Given the description of an element on the screen output the (x, y) to click on. 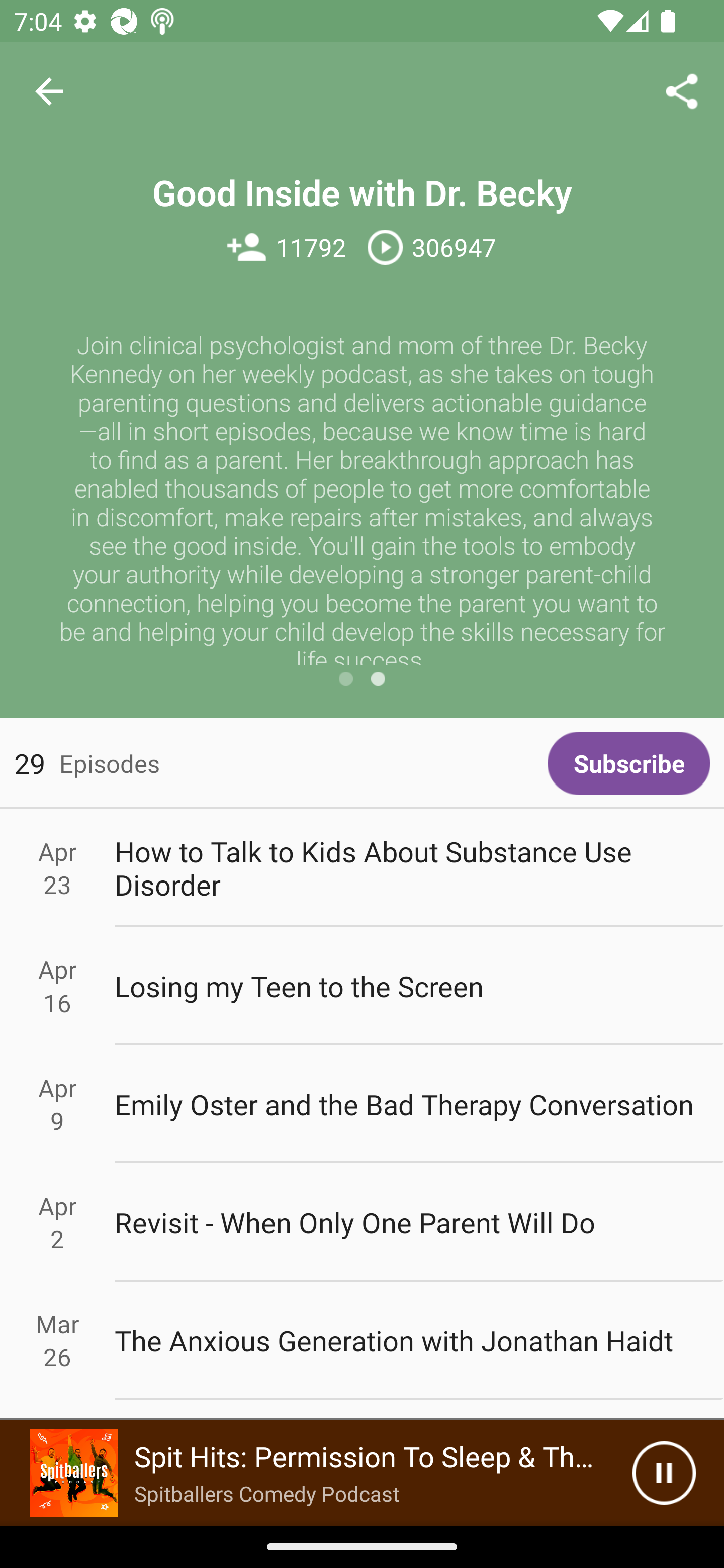
Navigate up (49, 91)
Share... (681, 90)
Subscribe (628, 763)
Apr 16 Losing my Teen to the Screen (362, 985)
Apr 9 Emily Oster and the Bad Therapy Conversation (362, 1104)
Apr 2 Revisit - When Only One Parent Will Do (362, 1222)
Mar 26 The Anxious Generation with Jonathan Haidt (362, 1340)
Pause (663, 1472)
